Given the description of an element on the screen output the (x, y) to click on. 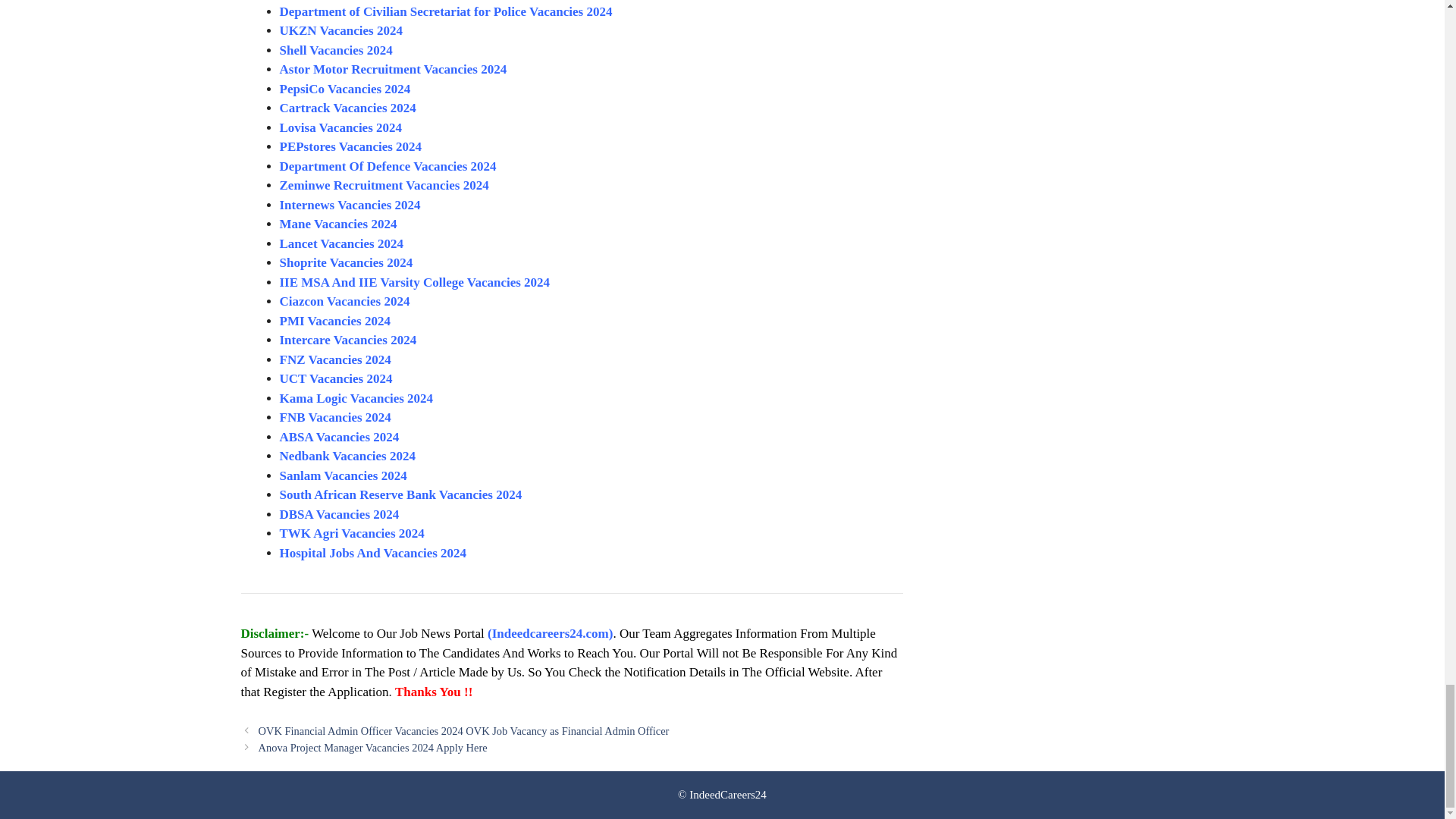
Shell Vacancies 2024  (337, 50)
Department of Civilian Secretariat for Police Vacancies 2024 (445, 11)
UKZN Vacancies 2024 (340, 30)
PepsiCo Vacancies 2024 (344, 88)
Astor Motor Recruitment Vacancies 2024 (392, 69)
